Given the description of an element on the screen output the (x, y) to click on. 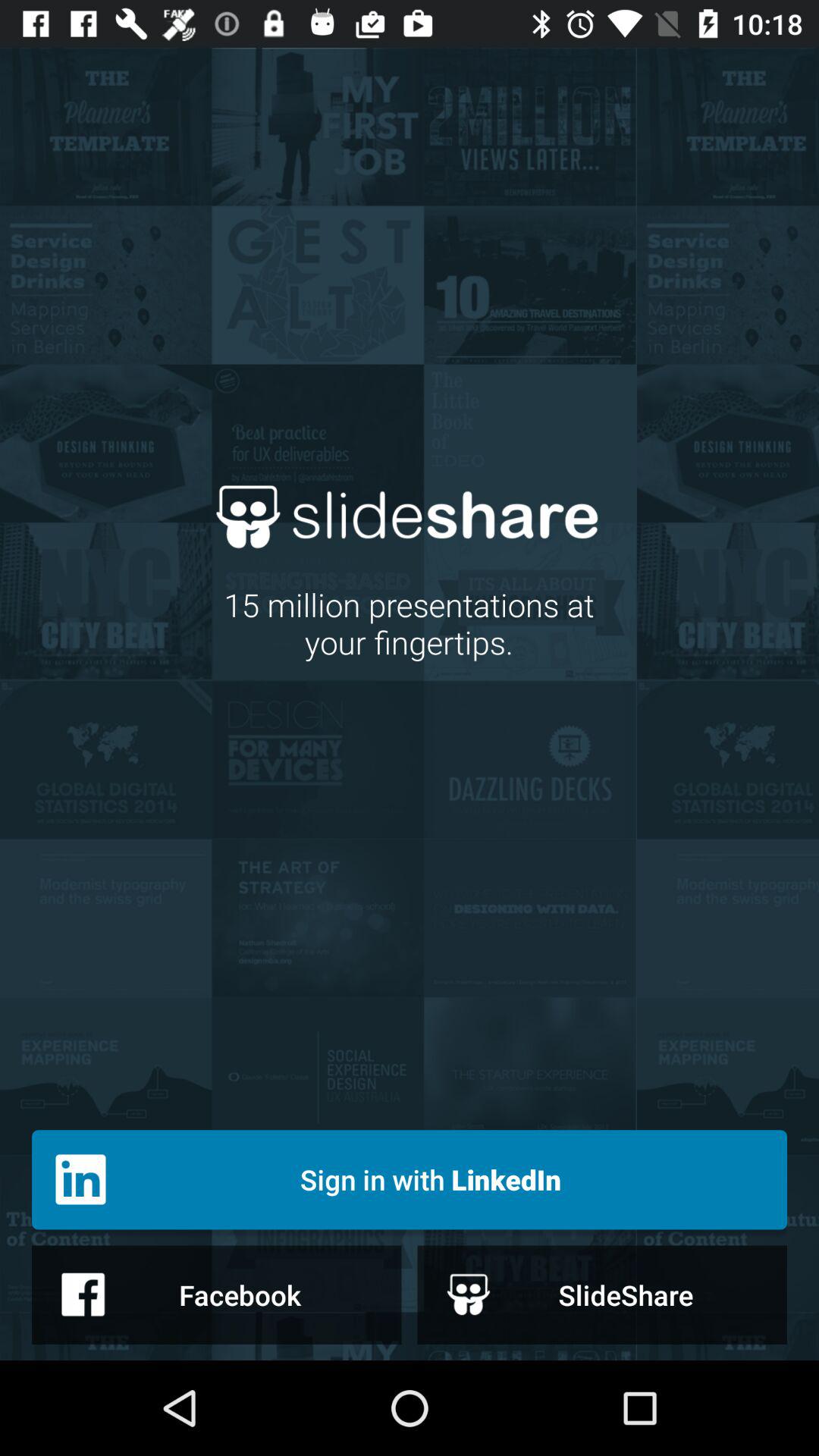
swipe to slideshare icon (602, 1294)
